Given the description of an element on the screen output the (x, y) to click on. 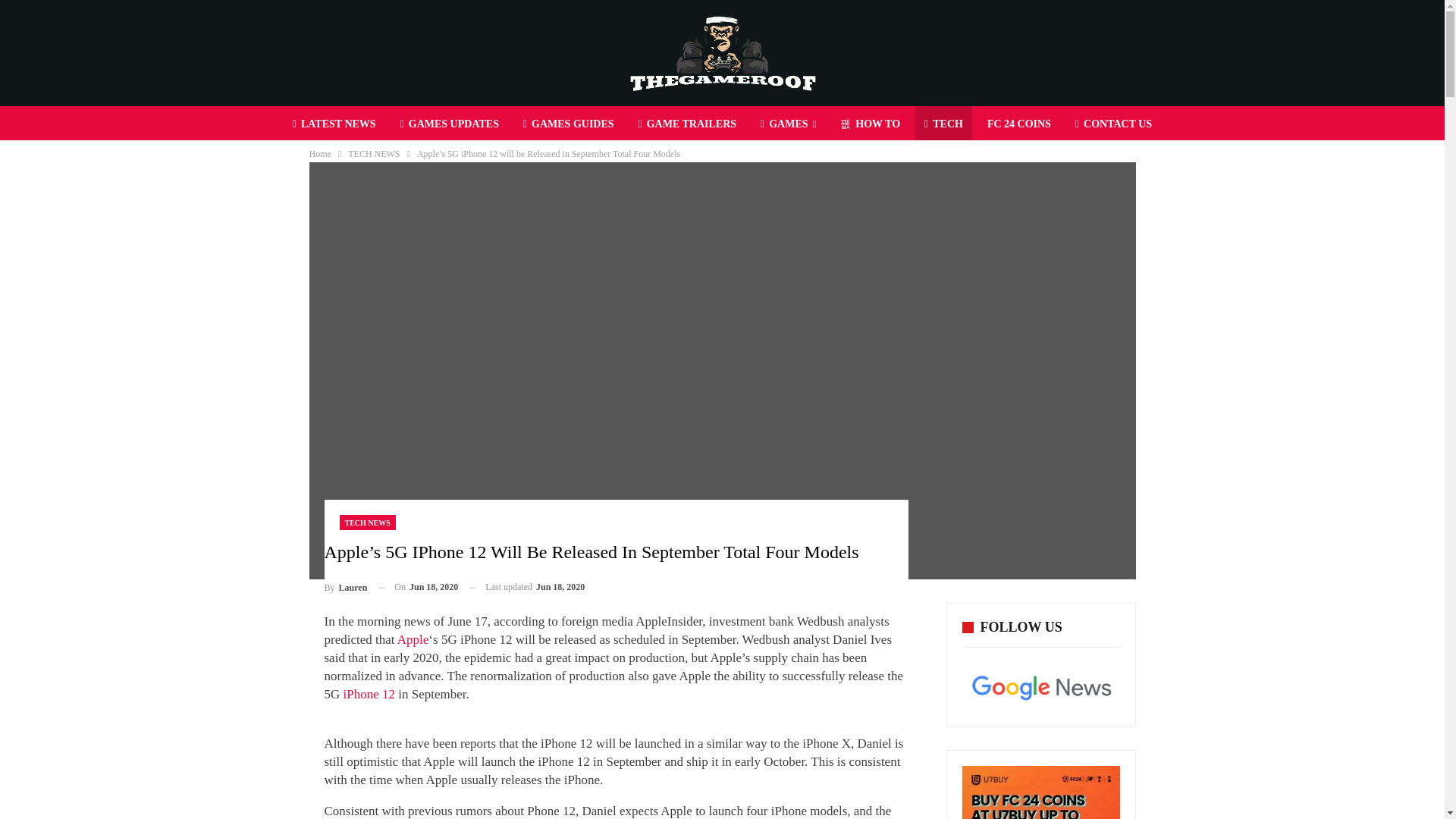
TECH NEWS (372, 153)
Home (319, 153)
Browse Author Articles (346, 587)
LATEST NEWS (334, 124)
HOW TO (869, 124)
GAMES GUIDES (568, 124)
GAME TRAILERS (686, 124)
GAMES UPDATES (449, 124)
Follow Us on Google News (1039, 686)
FC 24 COINS (1018, 124)
TECH NEWS (367, 522)
CONTACT US (1112, 124)
iPhone 12 (368, 694)
TECH (943, 124)
Apple (413, 639)
